Given the description of an element on the screen output the (x, y) to click on. 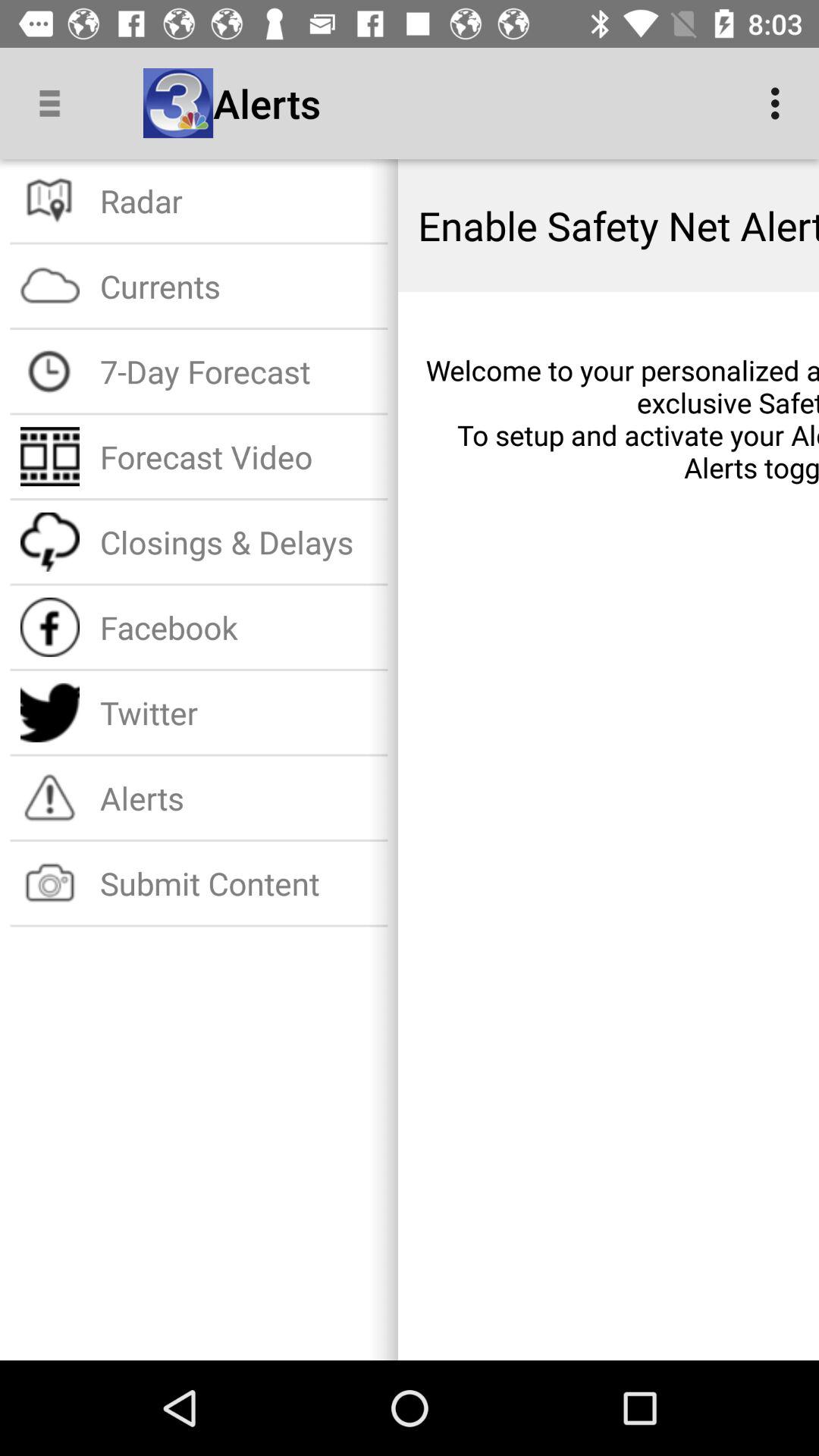
open item below closings & delays icon (238, 626)
